Given the description of an element on the screen output the (x, y) to click on. 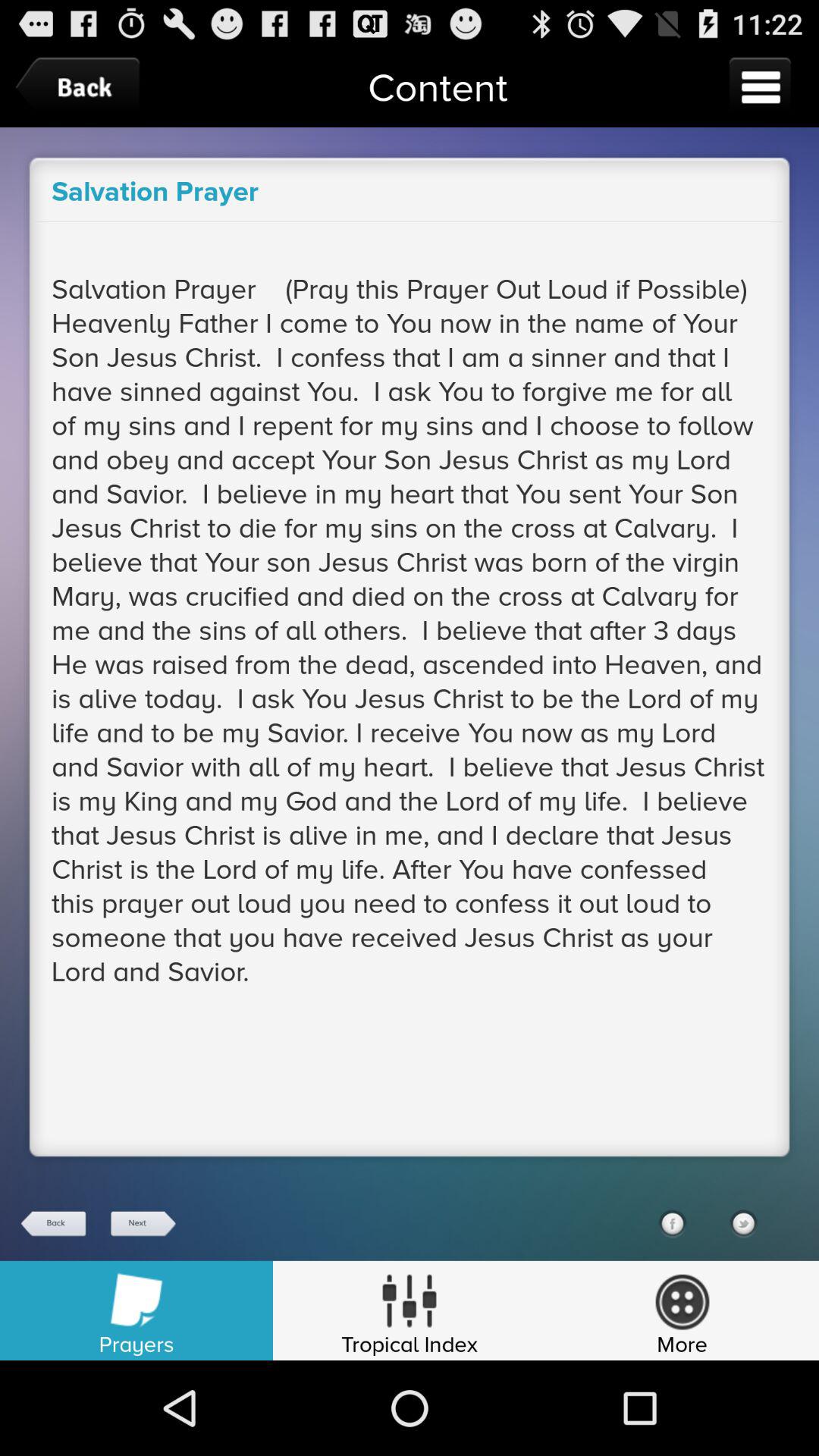
back button (53, 1223)
